Given the description of an element on the screen output the (x, y) to click on. 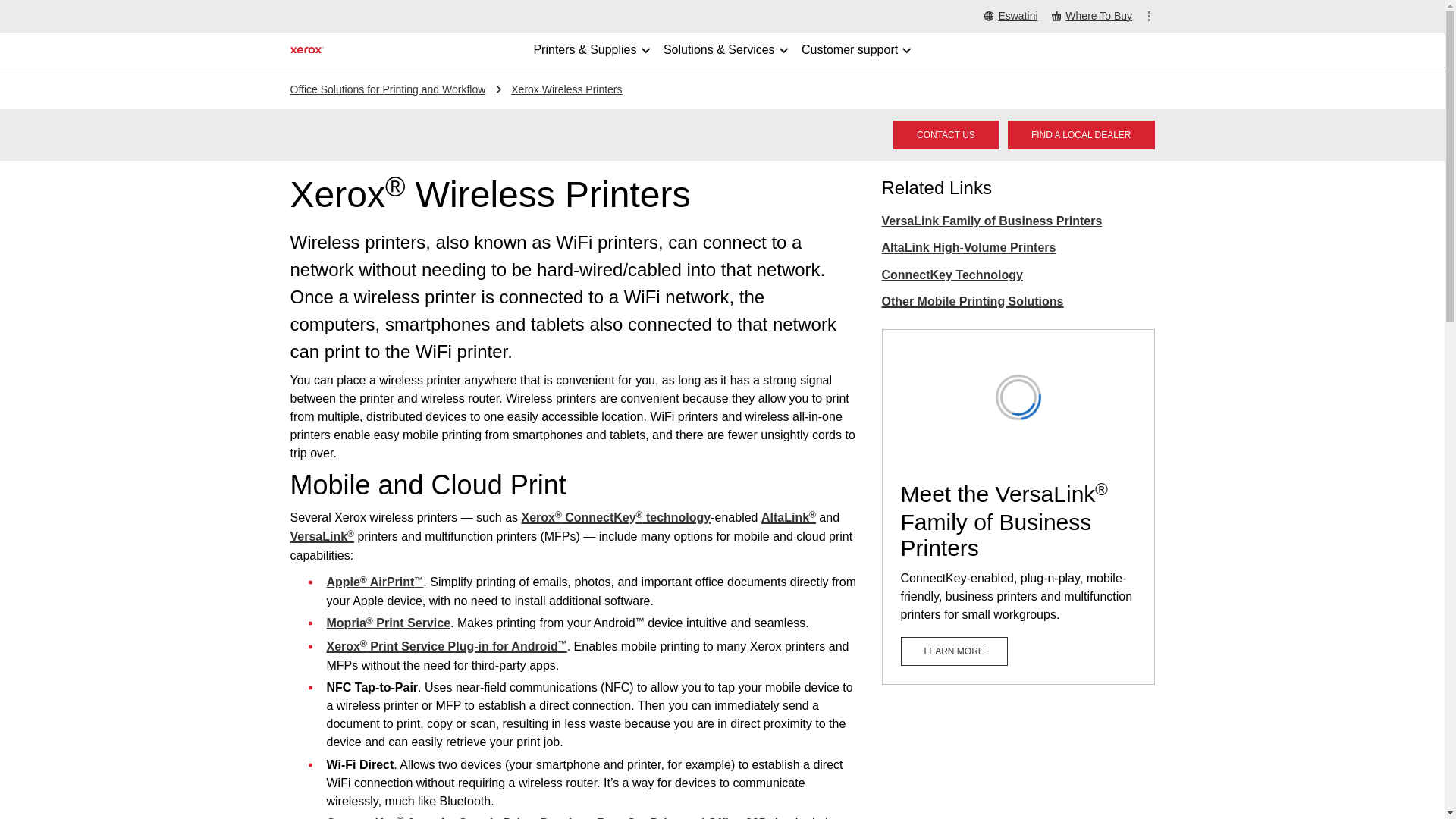
Where To Buy (1091, 16)
Eswatini (1011, 16)
